Given the description of an element on the screen output the (x, y) to click on. 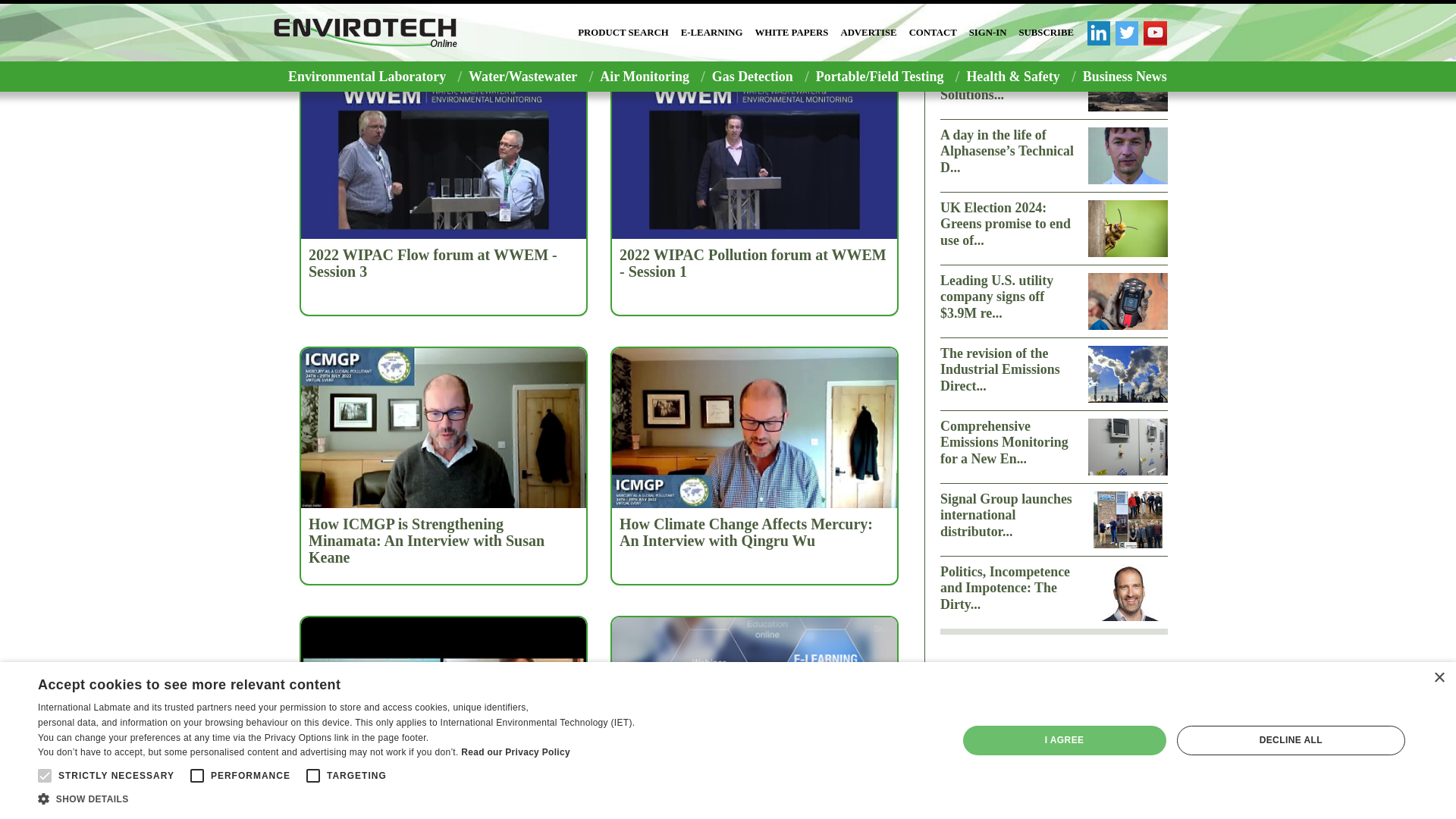
2022 WIPAC Flow forum at WWEM - Session 2 (754, 4)
2022 WIPAC Flow forum at WWEM - Session 1 (443, 4)
